Given the description of an element on the screen output the (x, y) to click on. 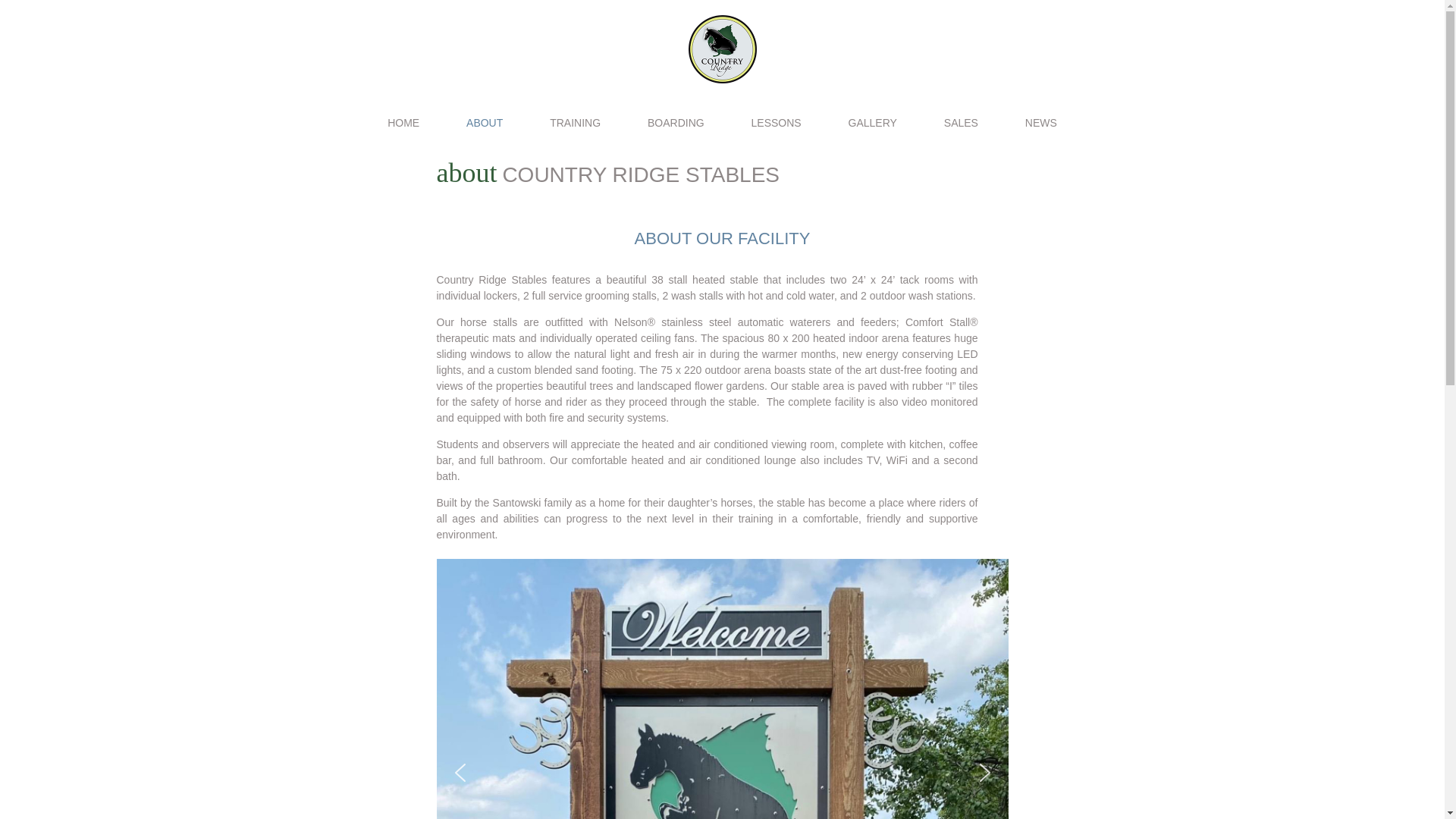
ABOUT (483, 129)
HOME (403, 129)
BOARDING (675, 129)
LESSONS (776, 129)
TRAINING (574, 129)
NEWS (1041, 129)
GALLERY (872, 129)
SALES (960, 129)
